Given the description of an element on the screen output the (x, y) to click on. 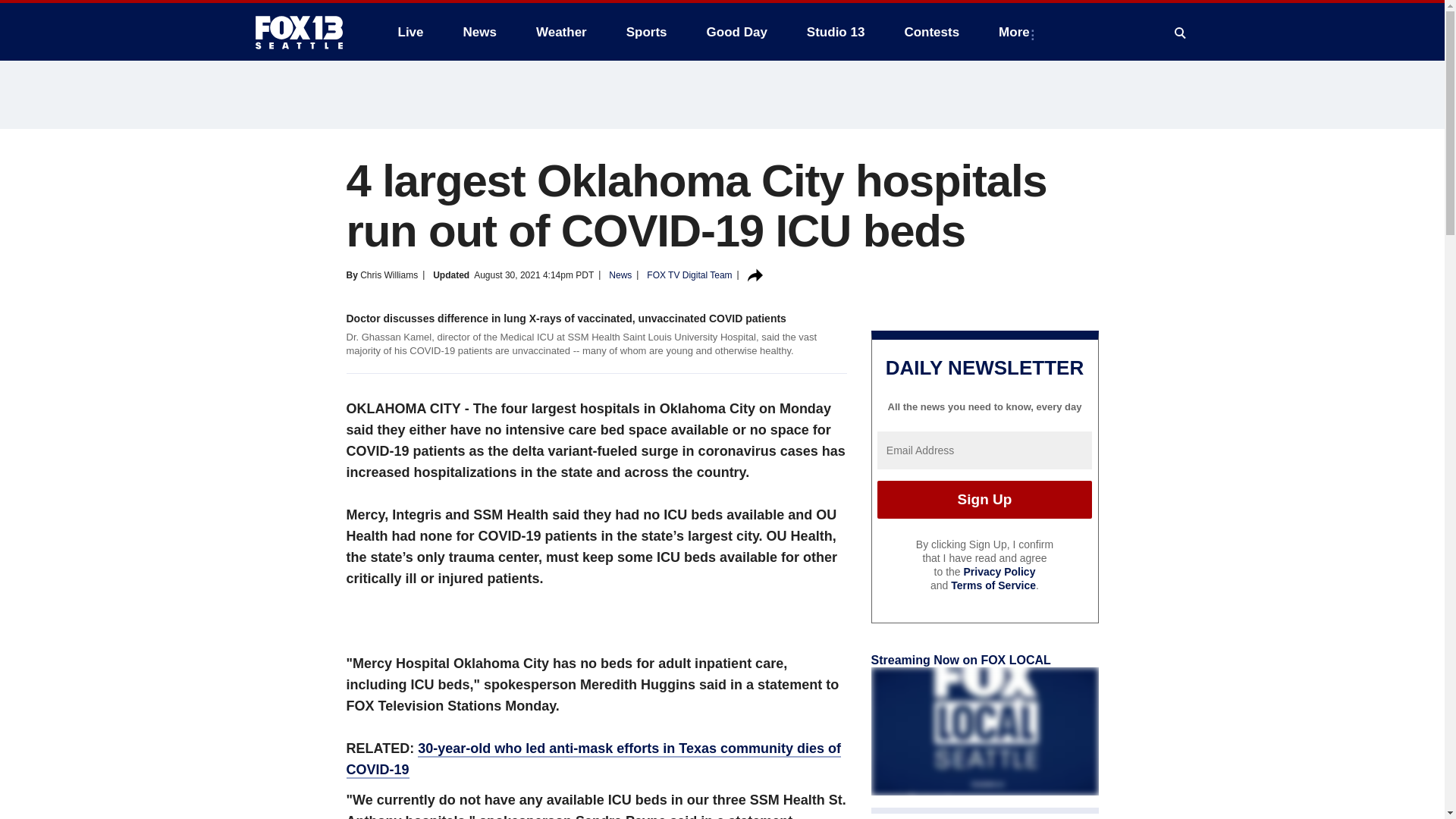
More (1017, 32)
Good Day (736, 32)
Sign Up (984, 499)
Weather (561, 32)
Sports (646, 32)
Contests (931, 32)
Studio 13 (835, 32)
News (479, 32)
Live (410, 32)
